Given the description of an element on the screen output the (x, y) to click on. 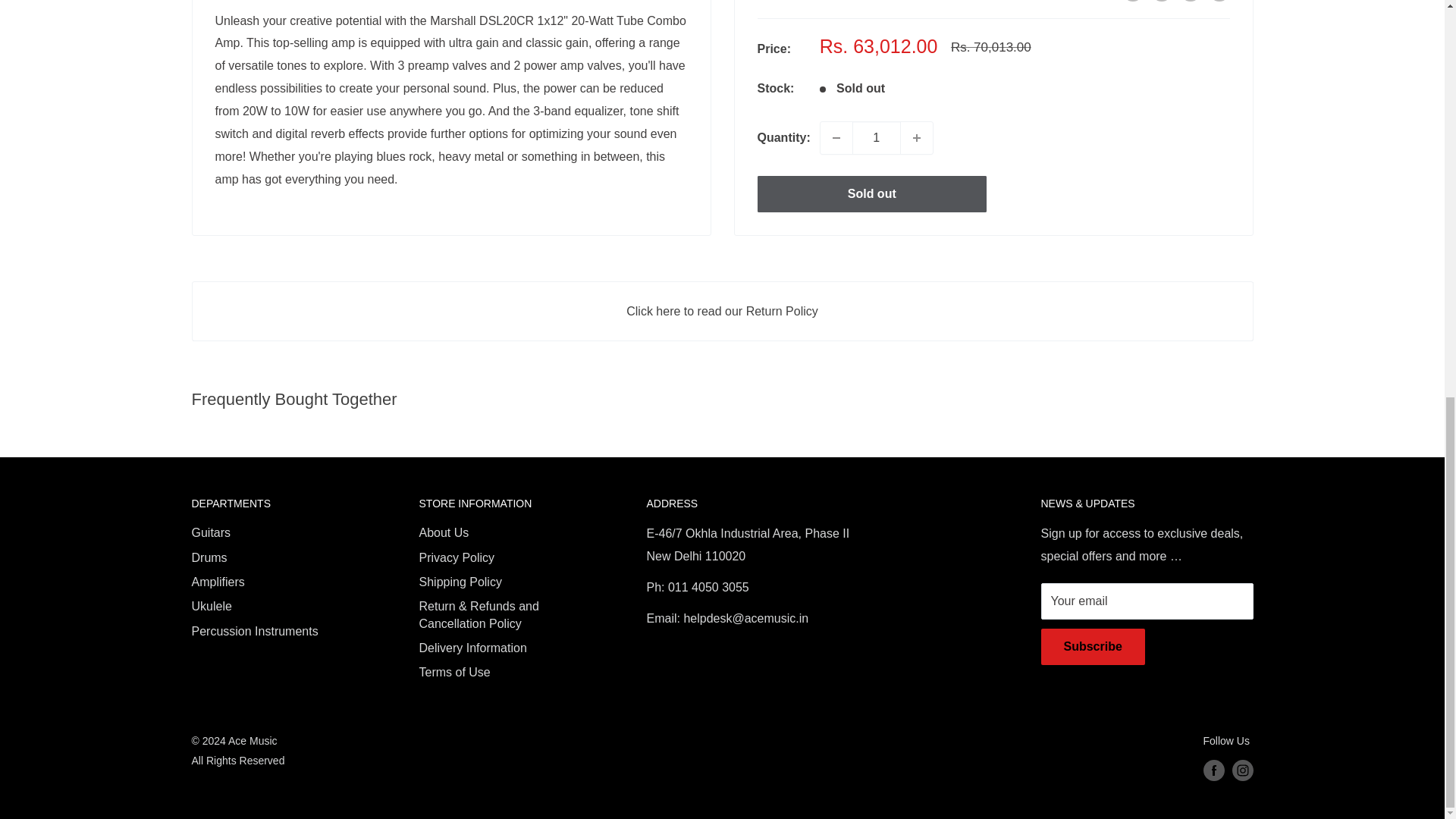
YouTube video player (427, 309)
